Given the description of an element on the screen output the (x, y) to click on. 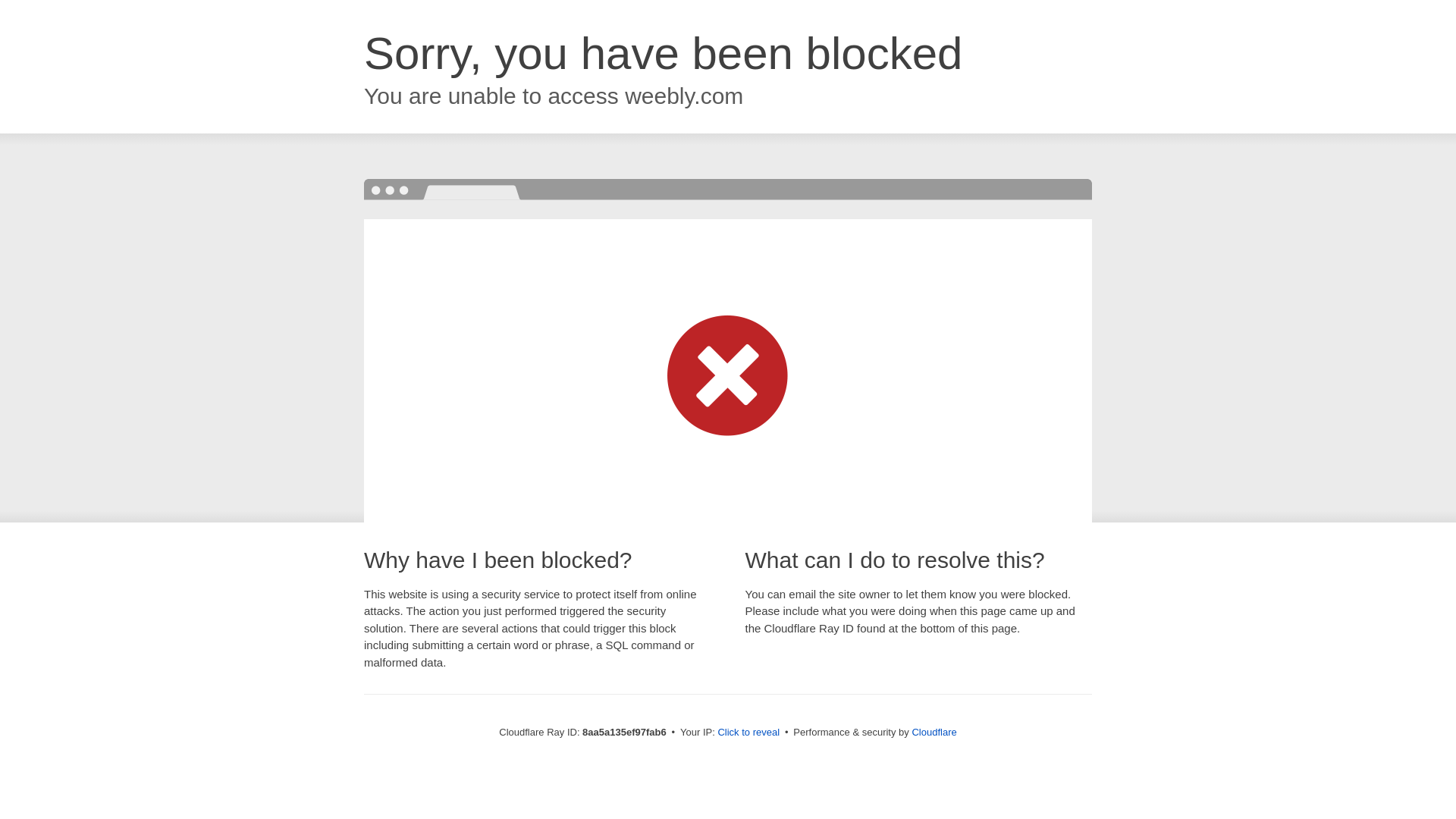
Click to reveal (747, 732)
Cloudflare (933, 731)
